Given the description of an element on the screen output the (x, y) to click on. 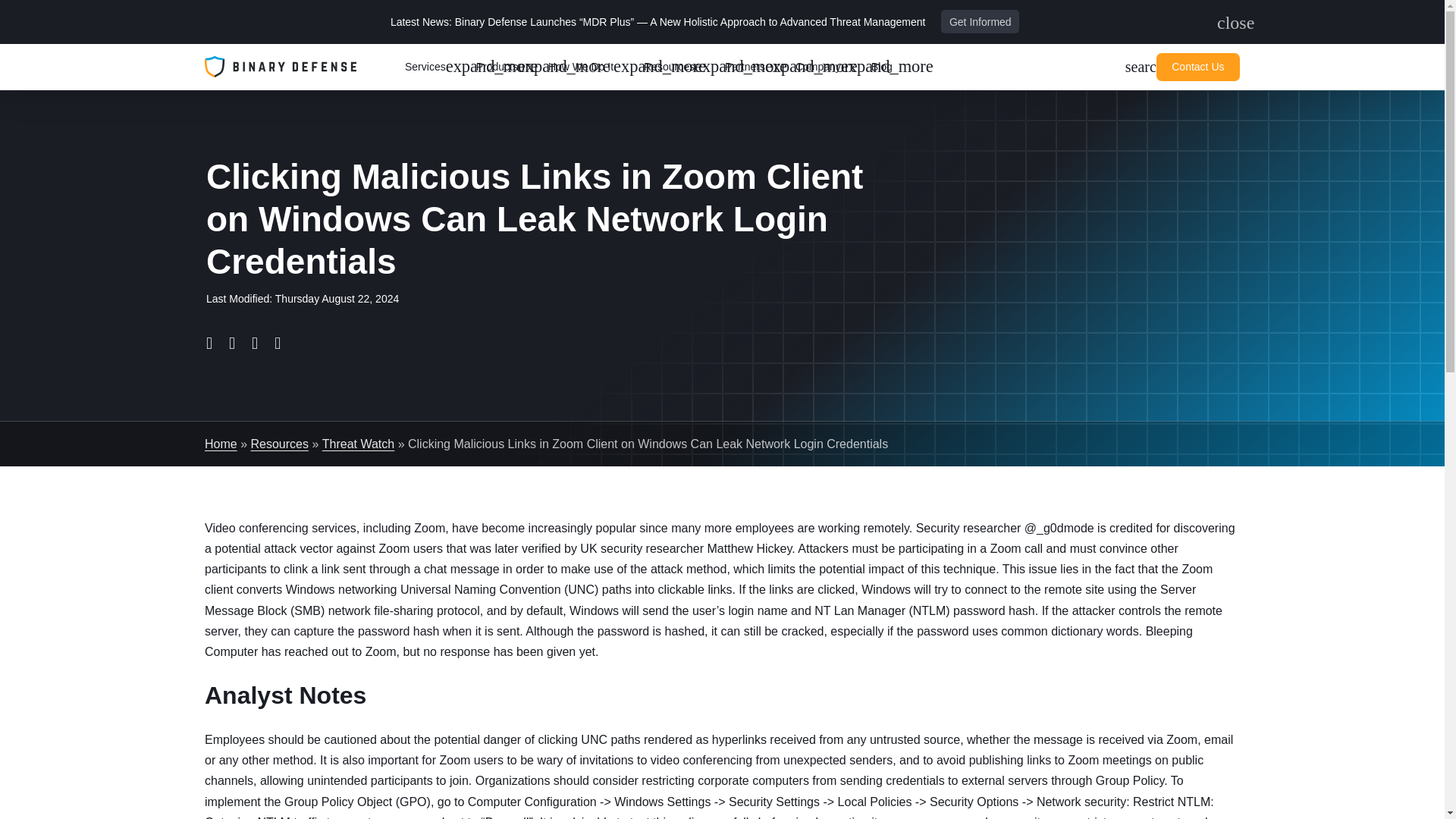
Get Informed (1225, 22)
Partners (979, 21)
Resources (754, 66)
Skip to content (678, 66)
Services (589, 66)
Products (434, 66)
